Given the description of an element on the screen output the (x, y) to click on. 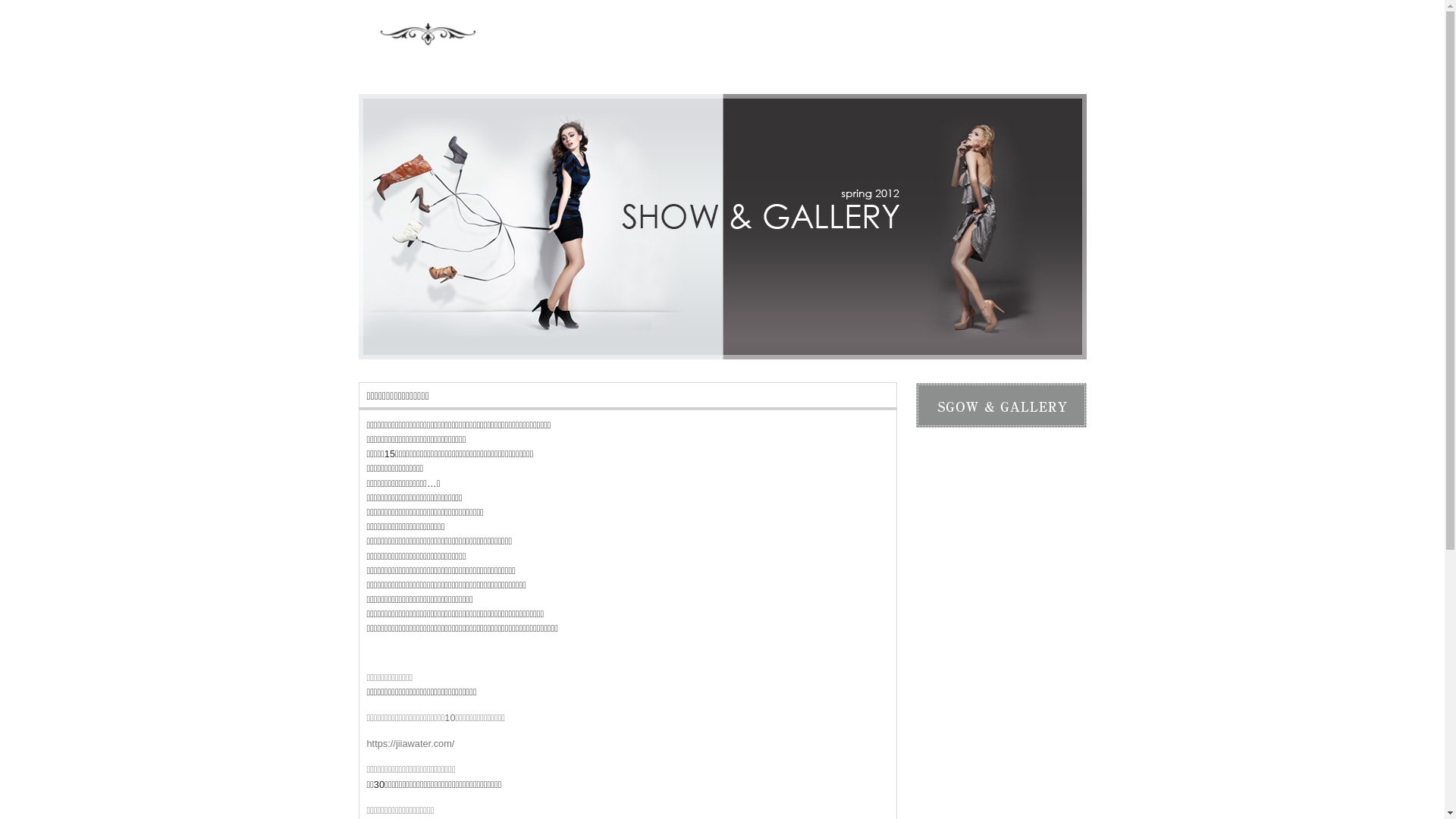
https://jiiawater.com/ Element type: text (411, 743)
